Given the description of an element on the screen output the (x, y) to click on. 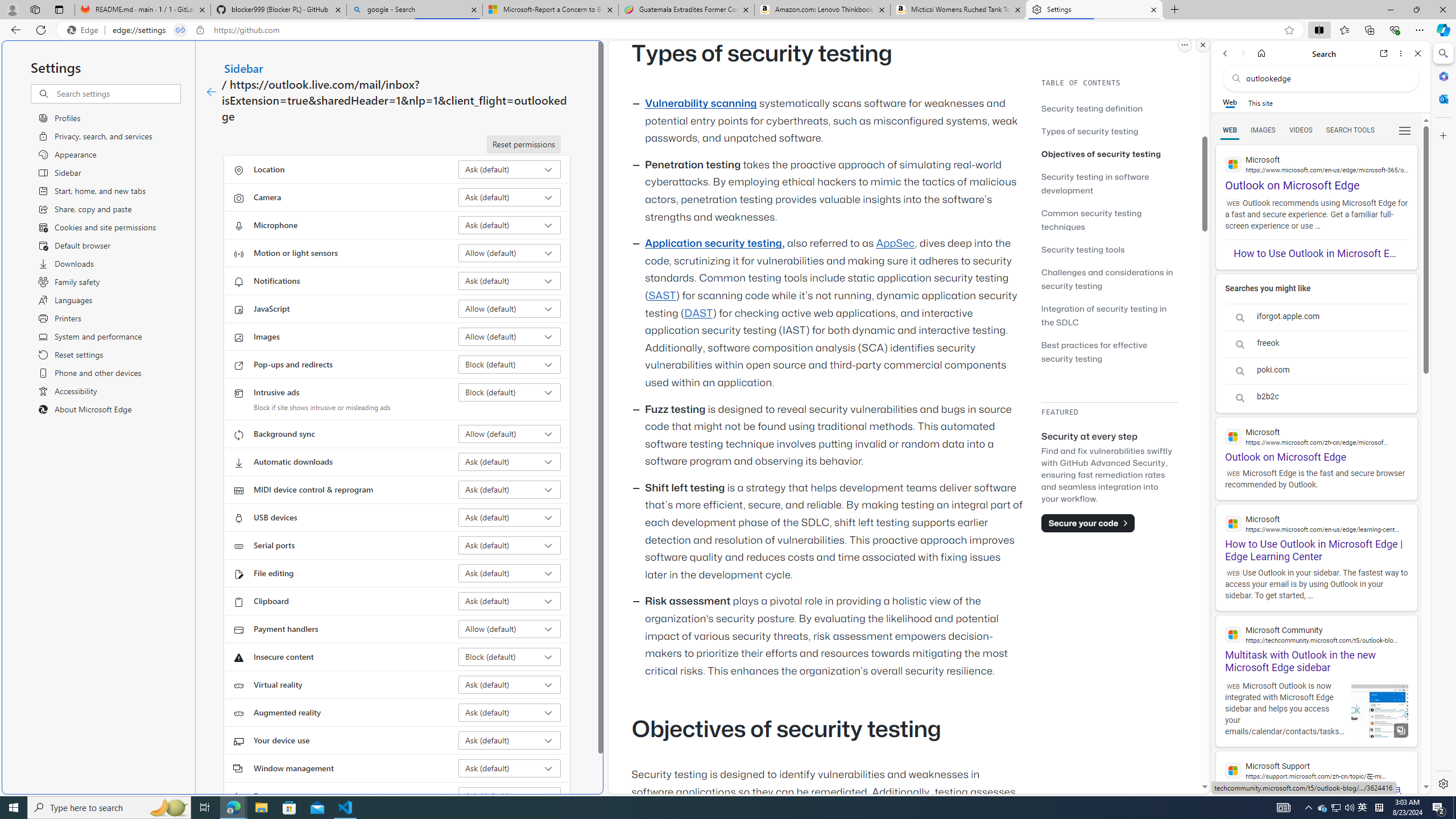
Secure your code (1088, 522)
Clipboard Ask (default) (509, 601)
Close split screen. (1202, 45)
